Given the description of an element on the screen output the (x, y) to click on. 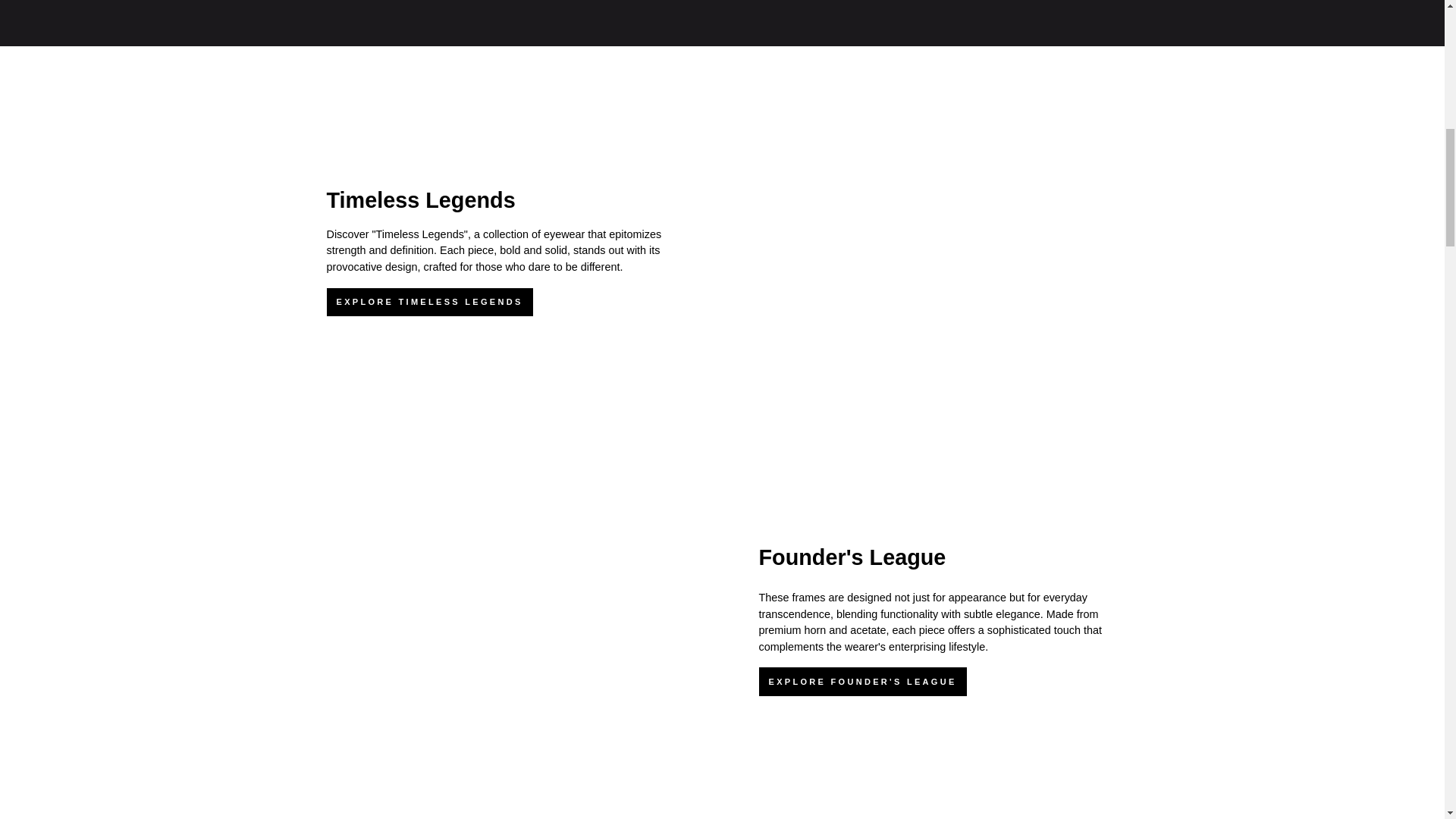
Founder's League (851, 557)
EXPLORE TIMELESS LEGENDS (429, 302)
EXPLORE FOUNDER'S LEAGUE (862, 681)
Timeless Legends (420, 200)
